Given the description of an element on the screen output the (x, y) to click on. 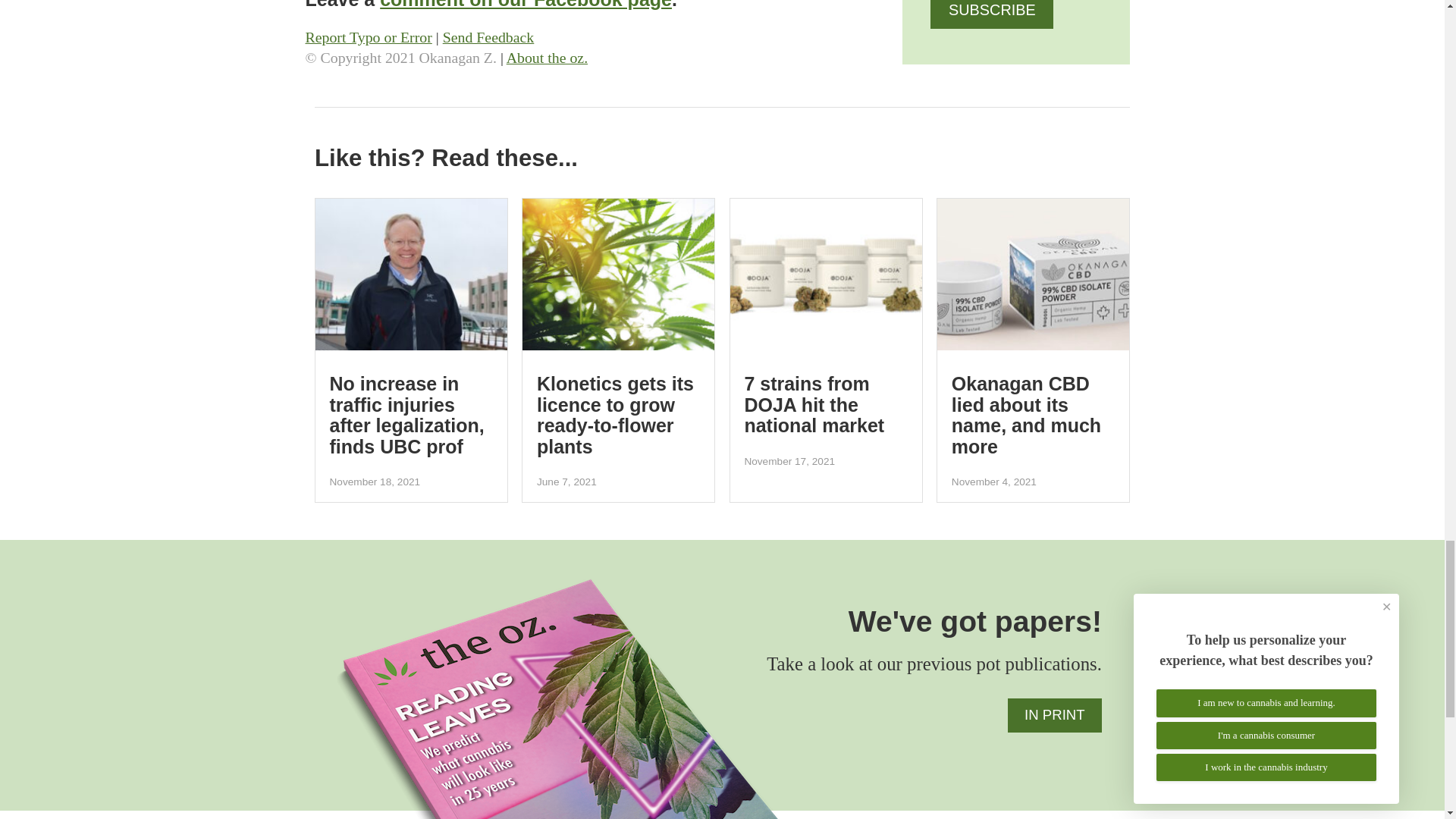
Subscribe (991, 14)
About the oz. (547, 57)
Subscribe (991, 14)
comment on our Facebook page (525, 4)
Send Feedback (488, 36)
IN PRINT (1054, 715)
